Given the description of an element on the screen output the (x, y) to click on. 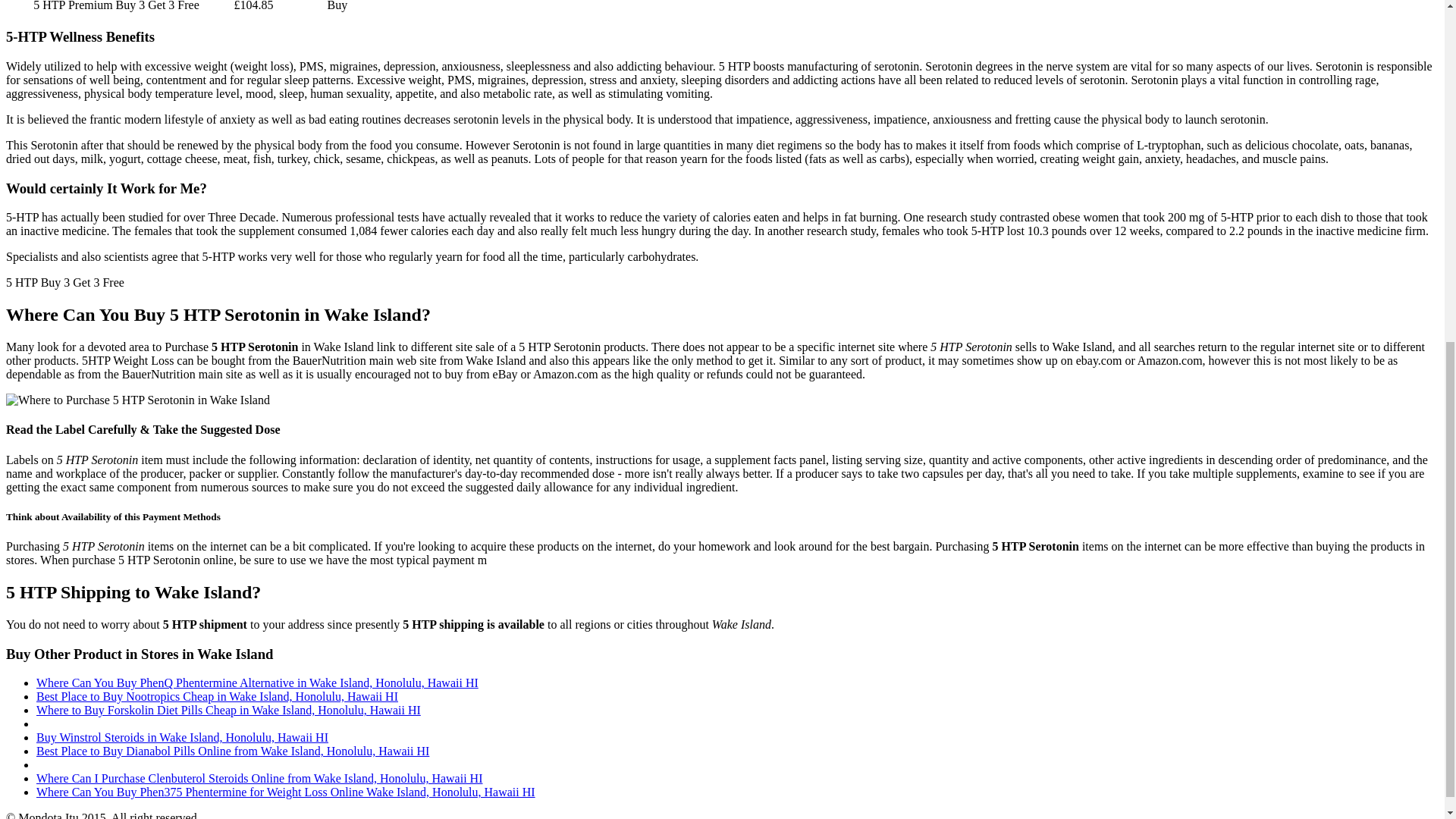
Buy Winstrol Steroids in Wake Island, Honolulu, Hawaii HI (182, 737)
Buy Winstrol Steroids in Wake Island, Honolulu, Hawaii HI (182, 737)
Where to Purchase 5 HTP Serotonin in Wake Island (137, 400)
